Given the description of an element on the screen output the (x, y) to click on. 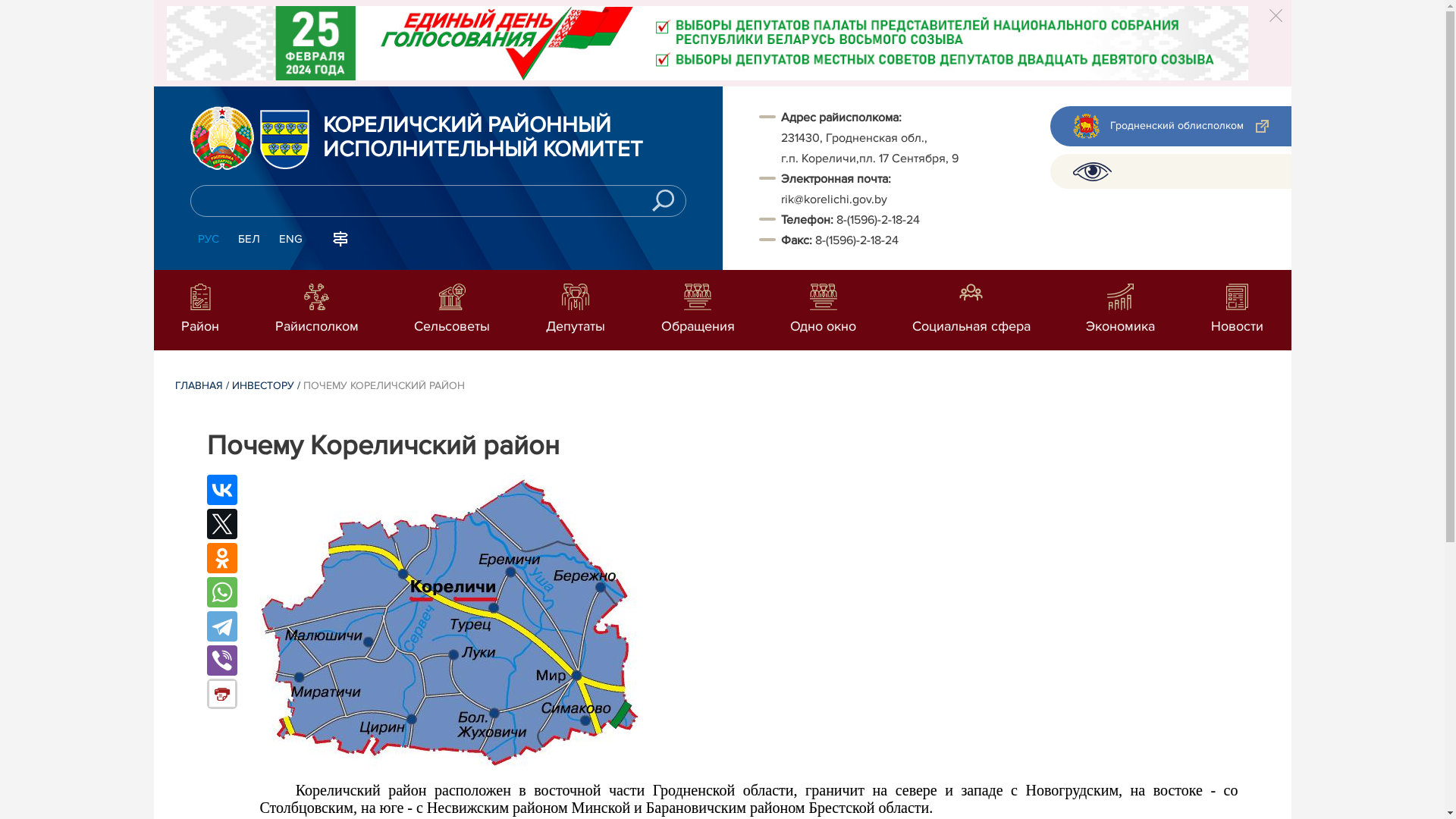
Viber Element type: hover (221, 660)
Twitter Element type: hover (221, 523)
WhatsApp Element type: hover (221, 592)
Telegram Element type: hover (221, 626)
ENG Element type: text (290, 239)
